Given the description of an element on the screen output the (x, y) to click on. 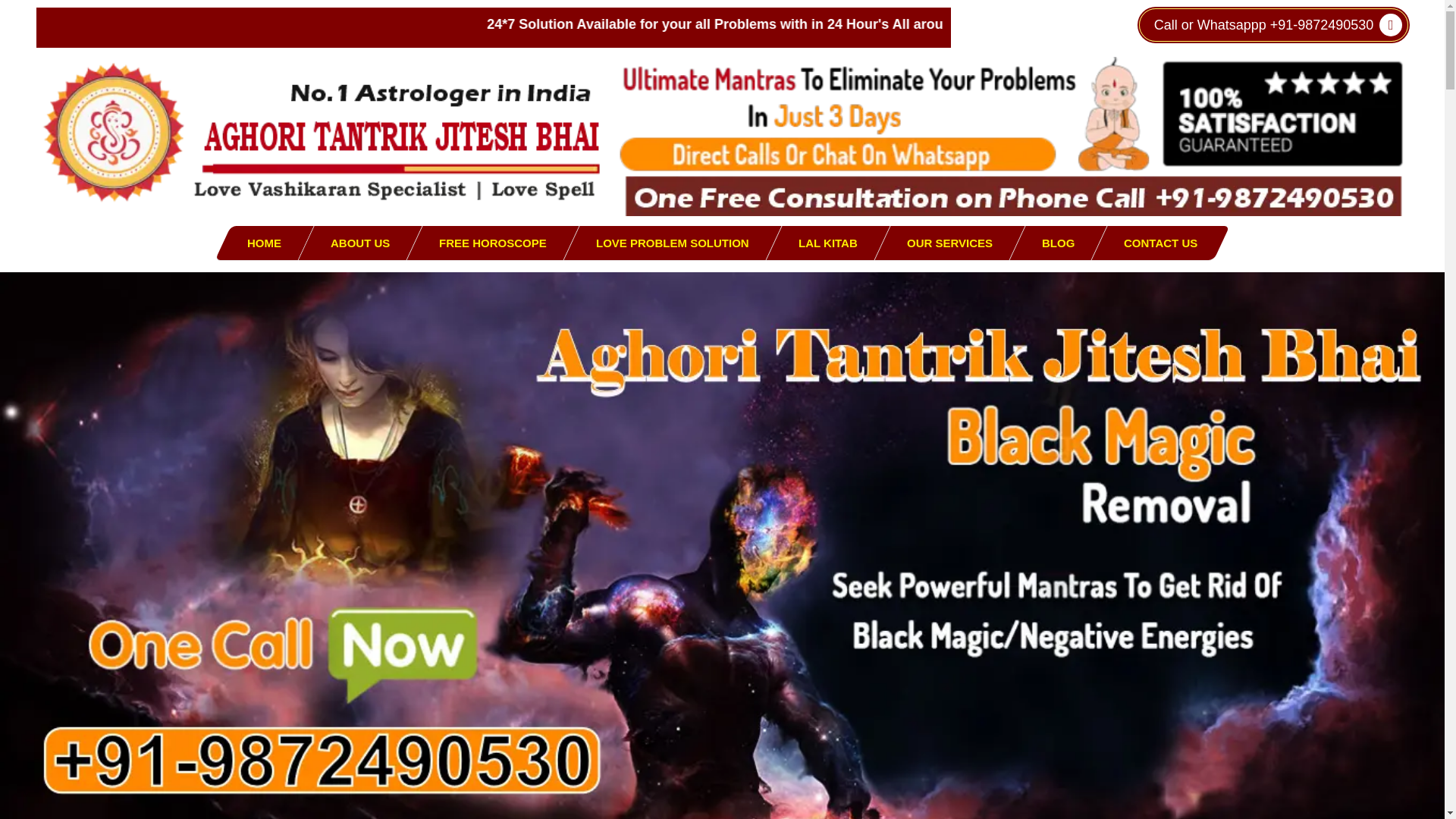
CONTACT US (1160, 243)
Aghori Tantrik Jitesh Bhai (322, 132)
HOME (263, 243)
FREE HOROSCOPE (492, 243)
BLOG (1058, 243)
About Us (359, 243)
OUR SERVICES (949, 243)
Dua For All Problems (1008, 135)
Contact Us (1058, 243)
Free Horoscope (492, 243)
